Given the description of an element on the screen output the (x, y) to click on. 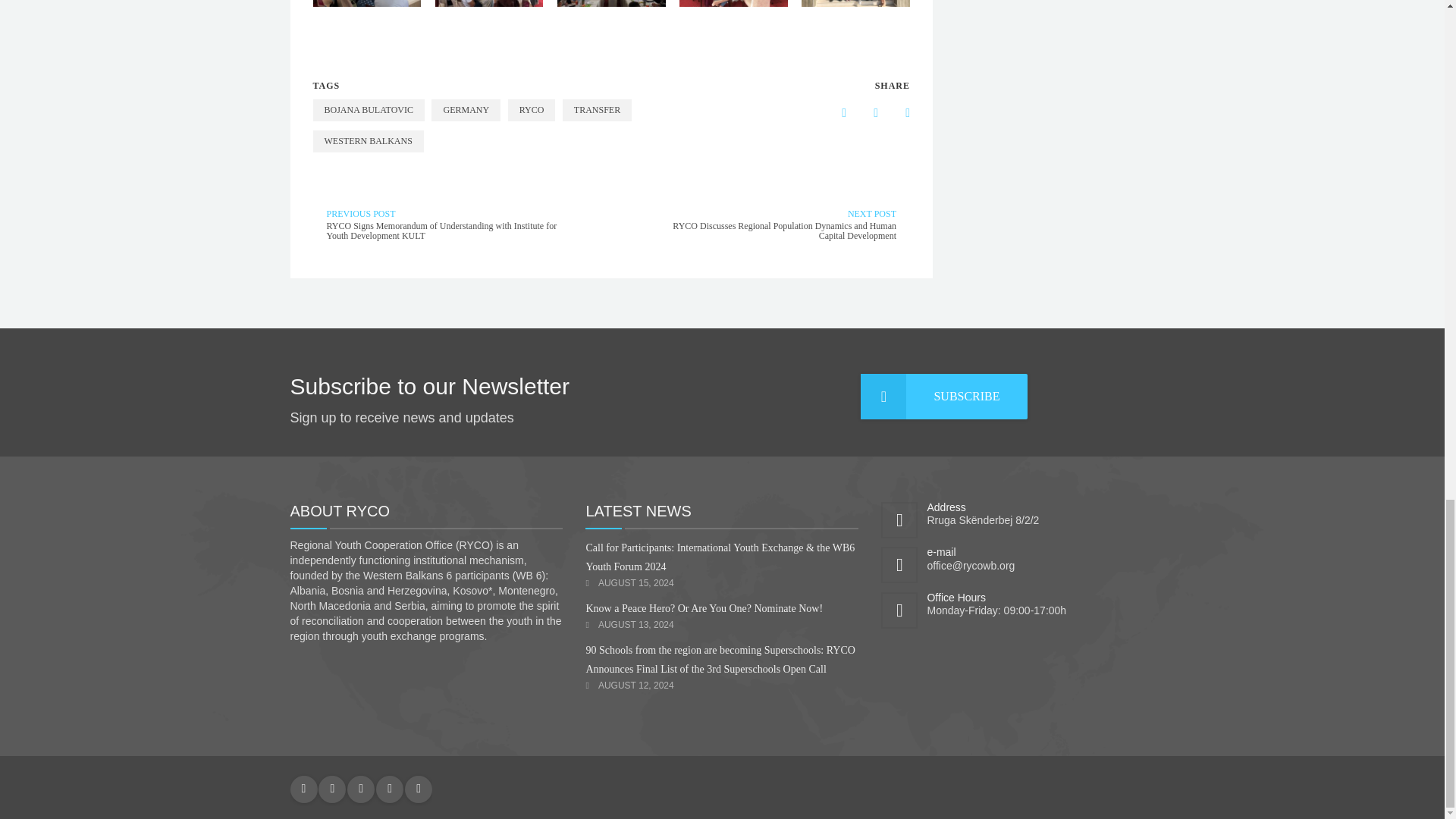
Tweet (896, 112)
Share on Facebook (831, 112)
Share on LinkedIn (863, 112)
